Given the description of an element on the screen output the (x, y) to click on. 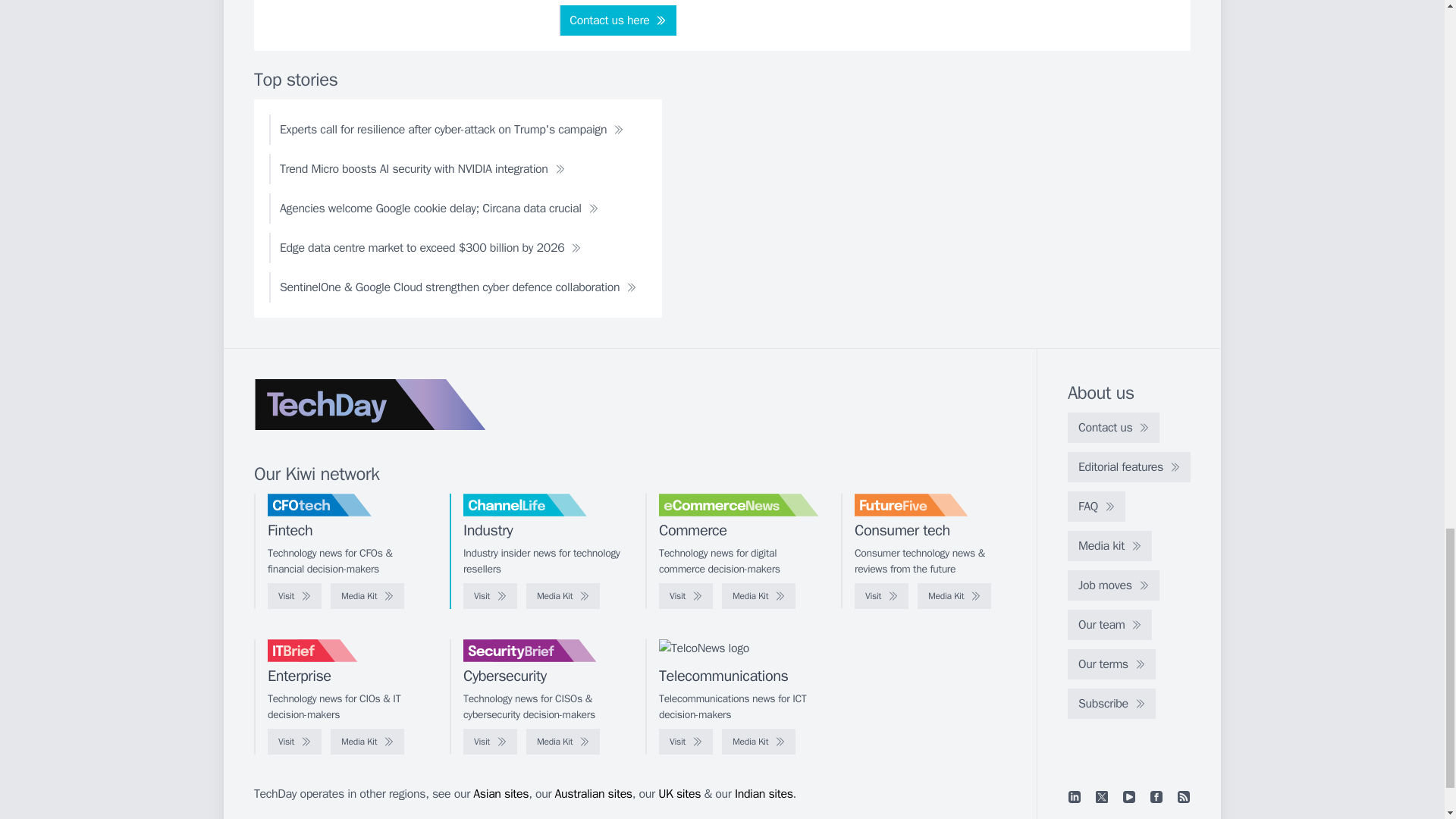
Visit (489, 741)
Media Kit (367, 741)
Media Kit (367, 596)
Visit (294, 596)
Contact us here (618, 20)
Visit (686, 596)
Media Kit (562, 741)
Media Kit (758, 596)
Media Kit (954, 596)
